Given the description of an element on the screen output the (x, y) to click on. 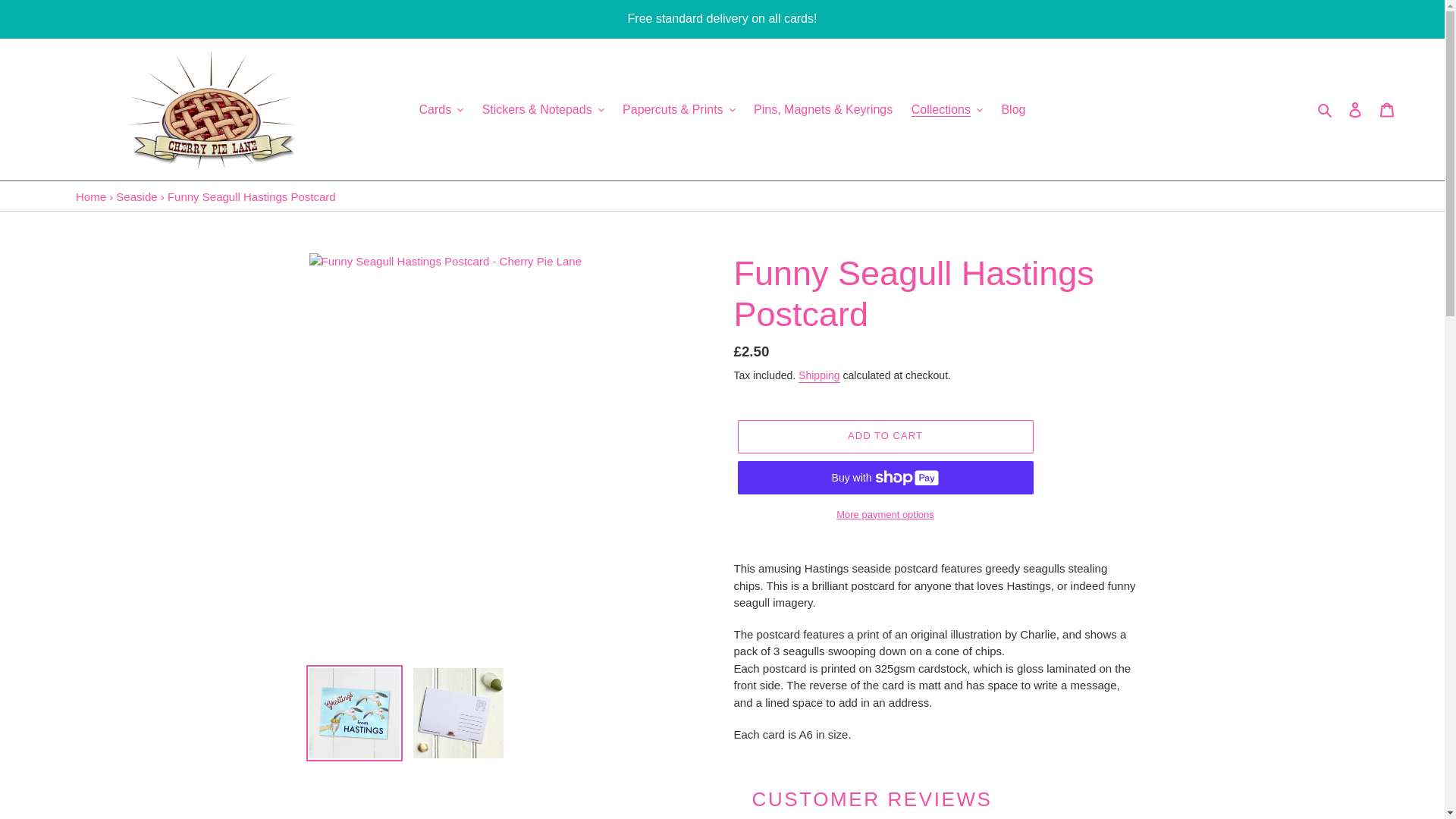
Collections (947, 109)
Cards (441, 109)
Home (90, 196)
